Given the description of an element on the screen output the (x, y) to click on. 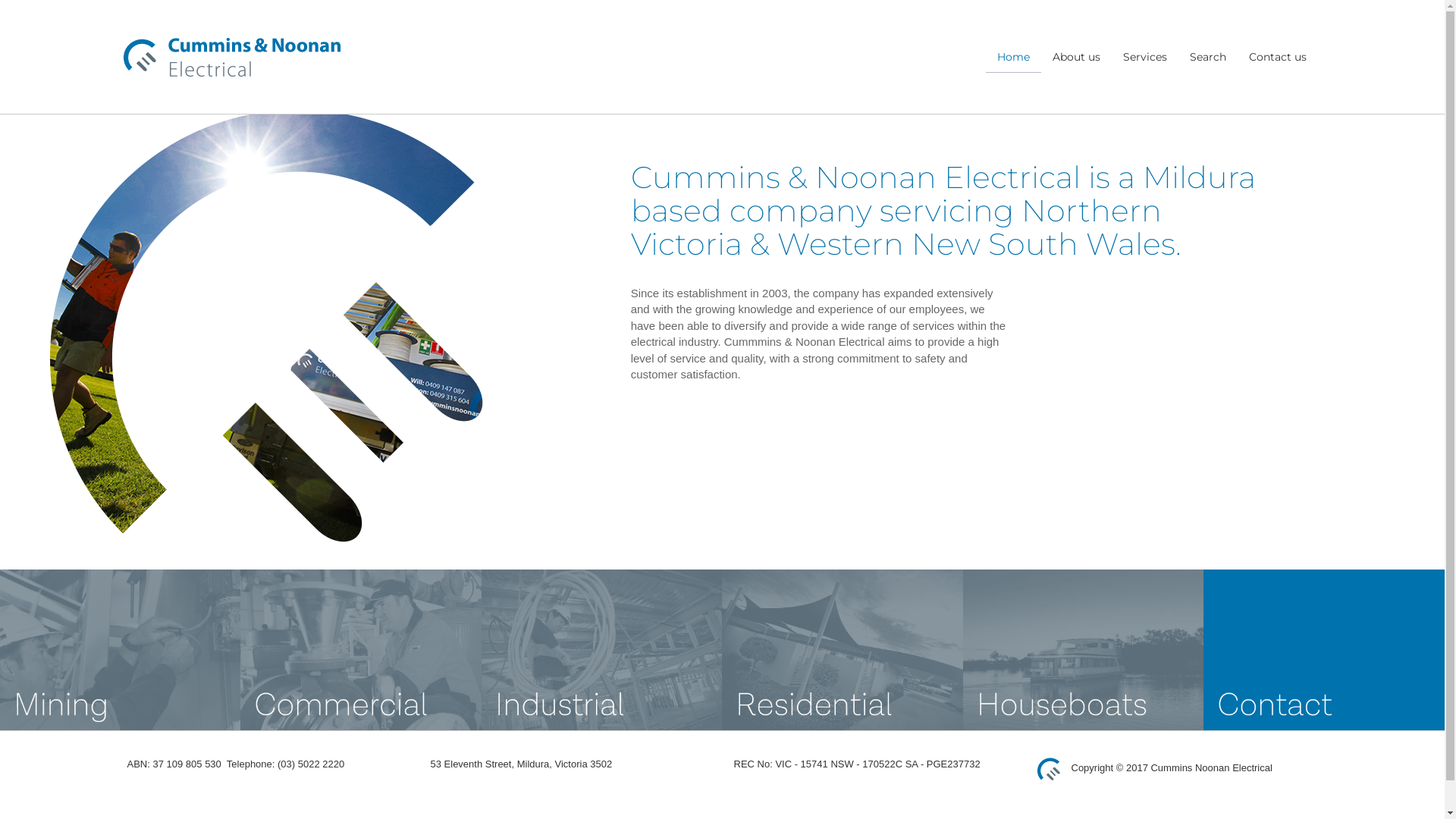
Contact us Element type: text (1277, 56)
About us Element type: text (1075, 56)
Search Element type: text (1207, 56)
Services Element type: text (1144, 56)
Home Element type: text (1013, 56)
